Given the description of an element on the screen output the (x, y) to click on. 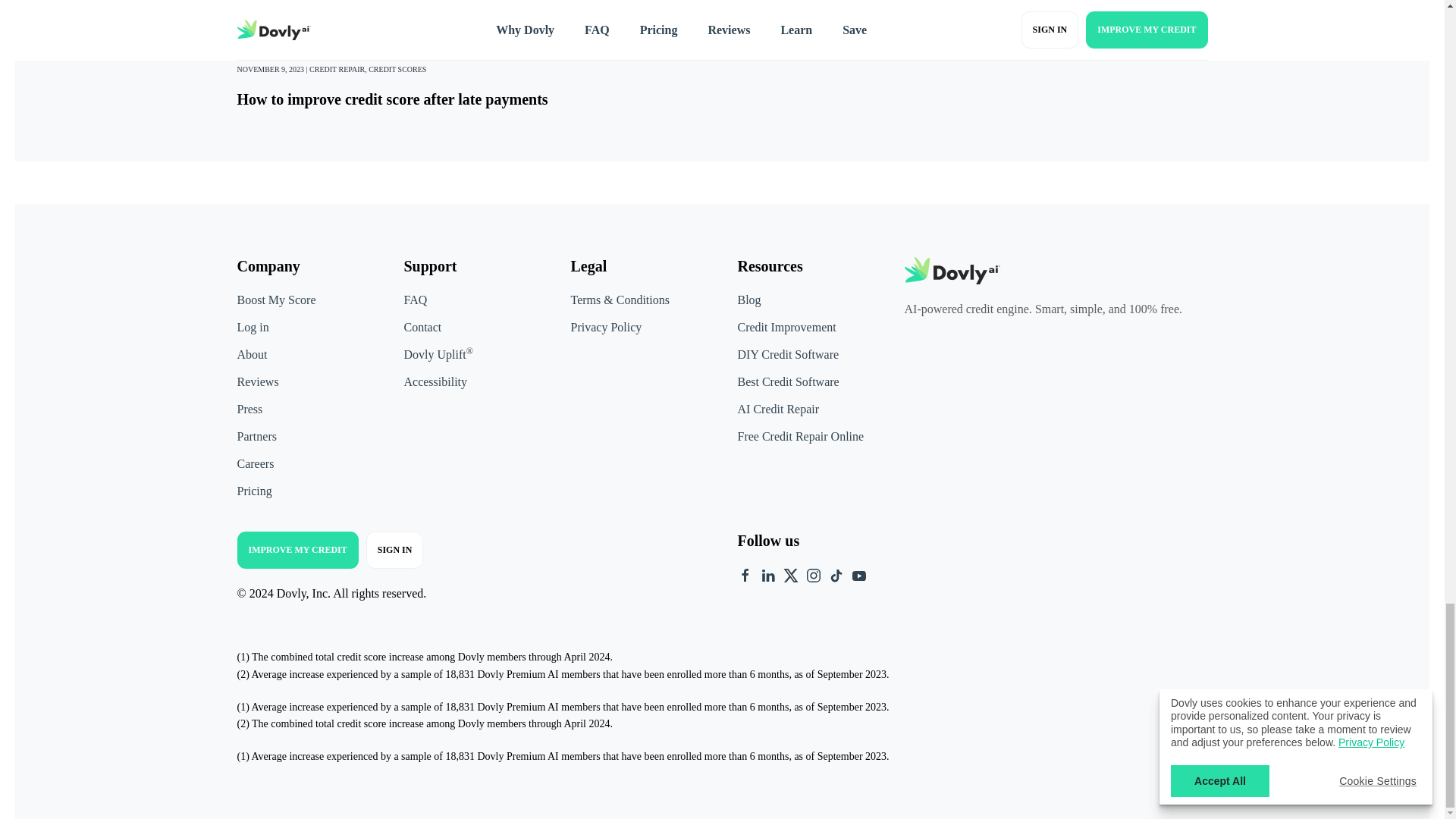
tiktok (835, 574)
Log in (303, 327)
Instagram (813, 574)
LinkedIn (767, 574)
youtube (858, 574)
Twitter (790, 574)
Boost My Score (275, 299)
Facebook (744, 574)
